Given the description of an element on the screen output the (x, y) to click on. 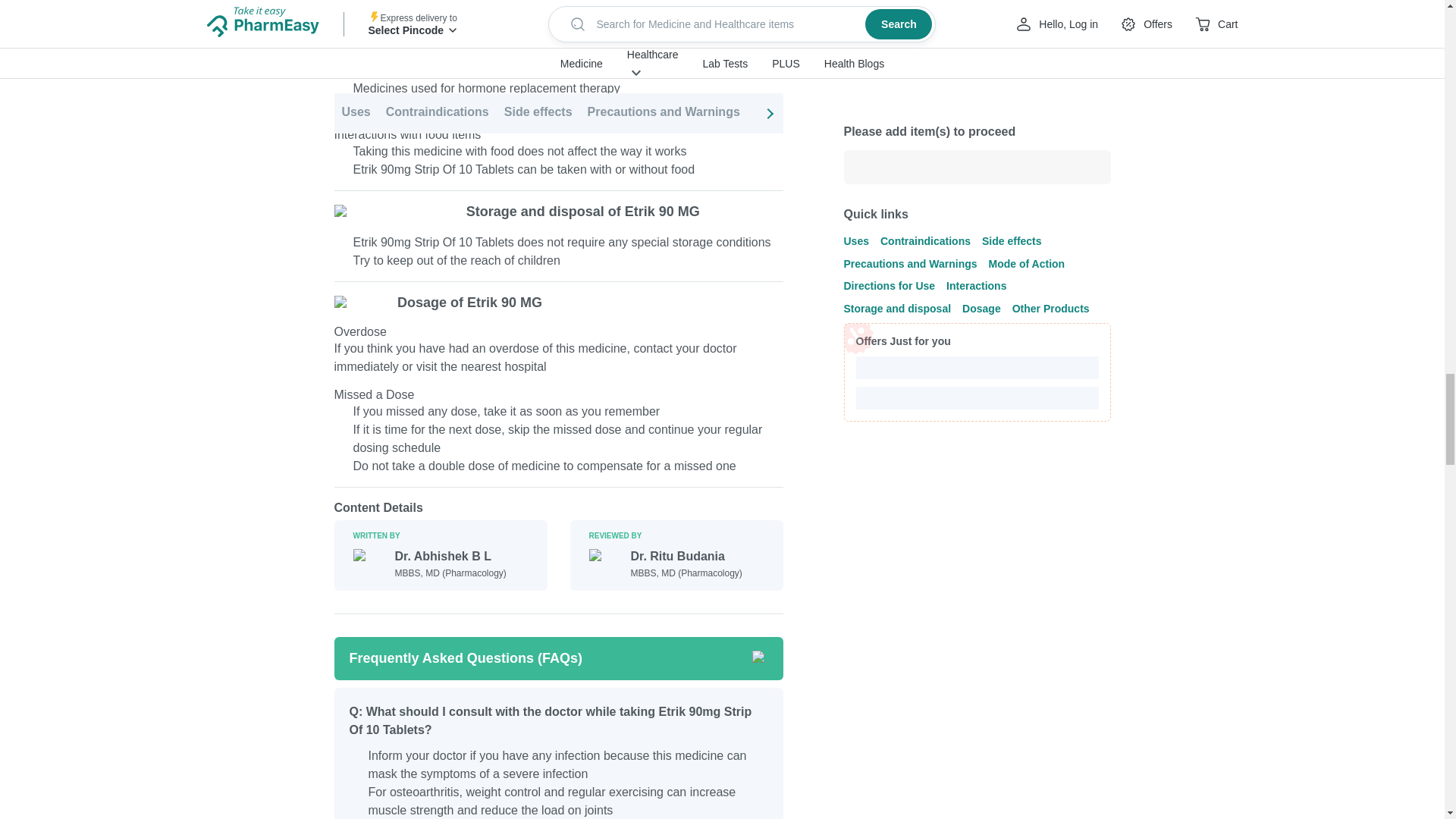
Dr. Ritu Budania (686, 556)
Dr. Abhishek B L (449, 556)
